Given the description of an element on the screen output the (x, y) to click on. 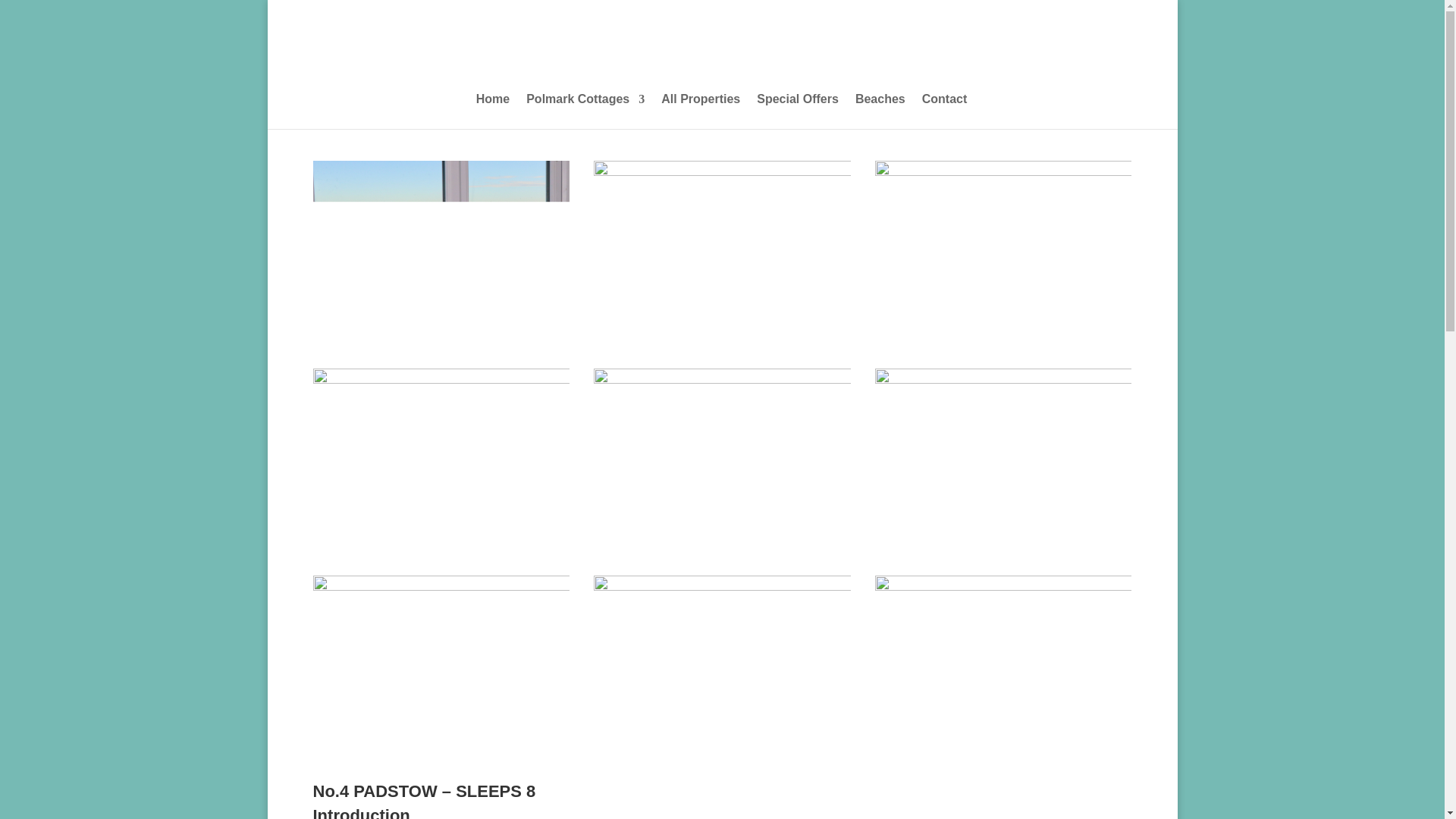
16 (441, 453)
17 (722, 246)
36 (1003, 660)
Special Offers (797, 111)
15 (1003, 246)
Polmark Cottages (585, 111)
29 (441, 660)
Beaches (880, 111)
10 (1003, 453)
All Properties (700, 111)
37 (722, 660)
Home (492, 111)
Contact (944, 111)
24 (441, 246)
21 (722, 453)
